Given the description of an element on the screen output the (x, y) to click on. 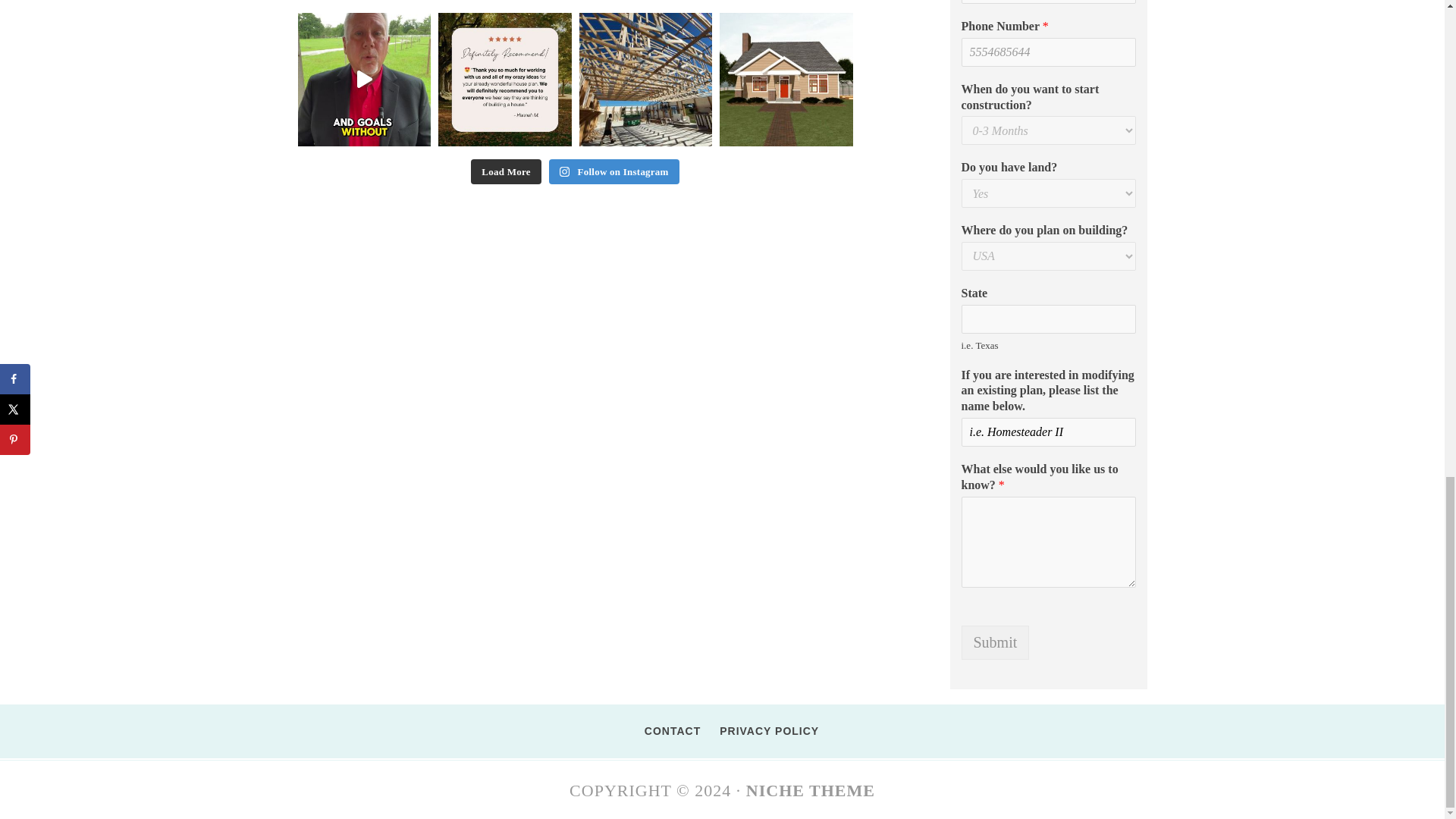
NICHE THEME (810, 790)
Submit (994, 642)
Follow on Instagram (613, 171)
PRIVACY POLICY (759, 731)
Load More (505, 171)
CONTACT (663, 731)
5554685644 (1047, 51)
